Given the description of an element on the screen output the (x, y) to click on. 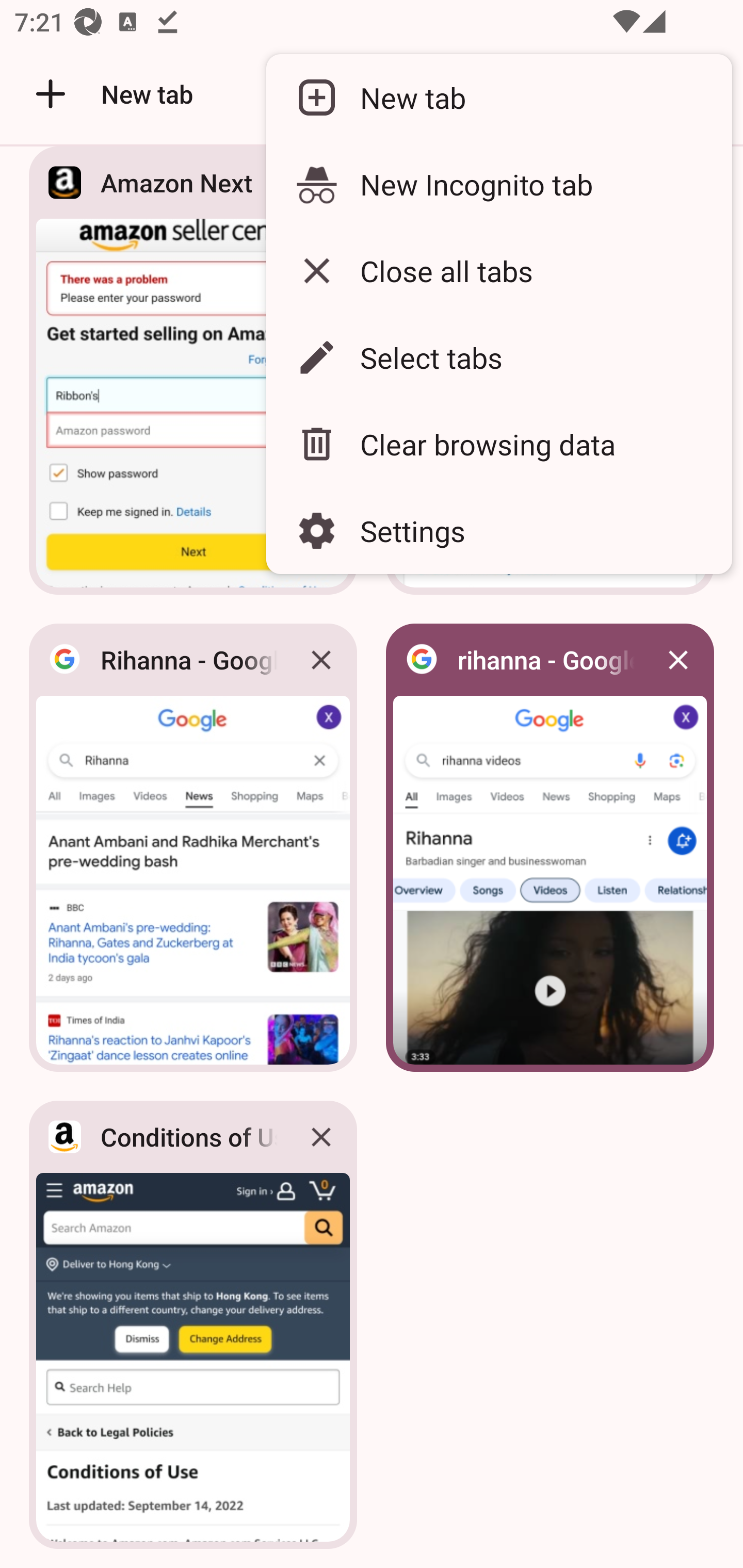
New tab (498, 97)
New Incognito tab (498, 184)
Close all tabs (498, 270)
Select tabs (498, 357)
Clear browsing data (498, 444)
Settings (498, 530)
